Given the description of an element on the screen output the (x, y) to click on. 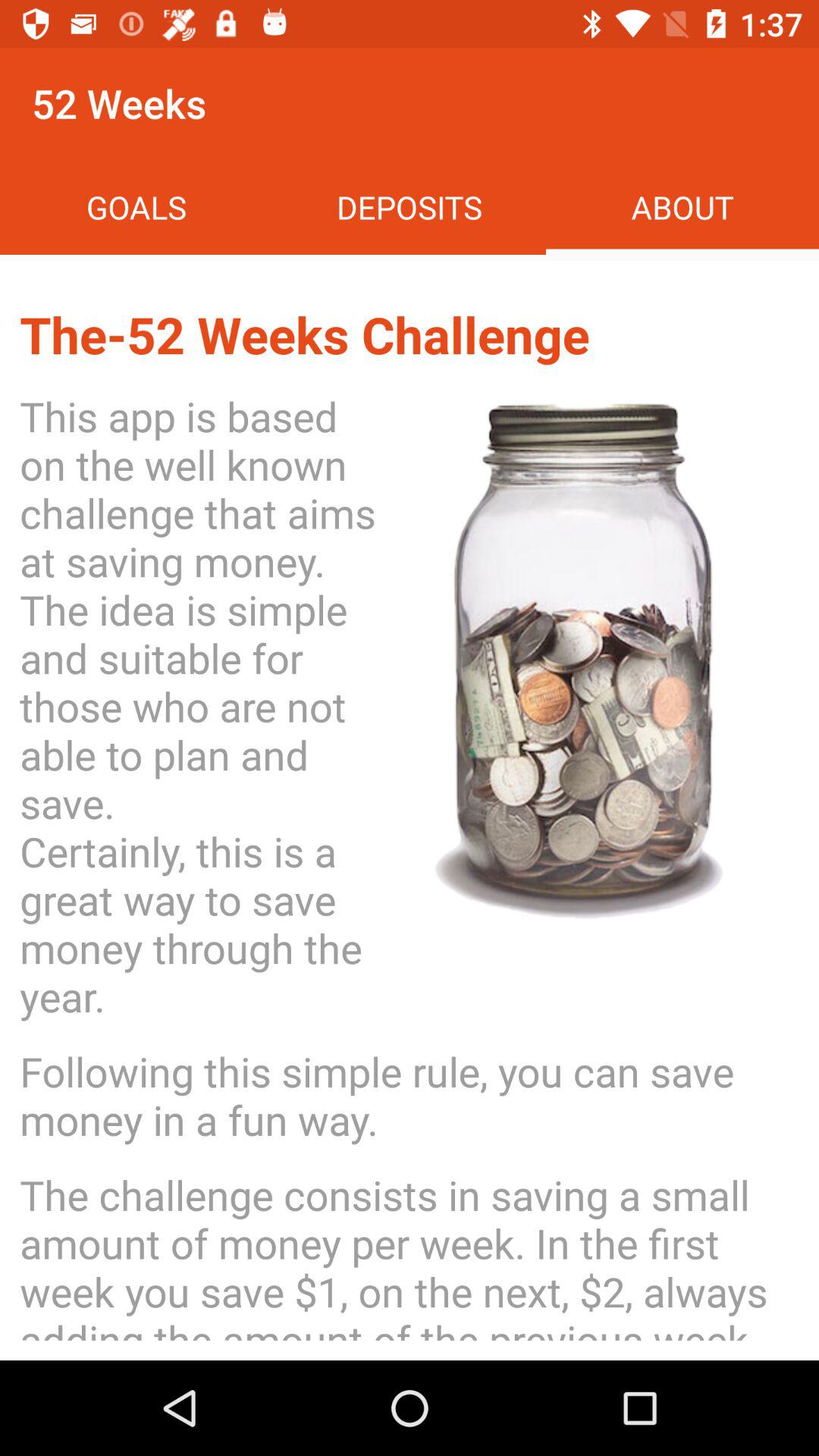
tap the about at the top right corner (682, 206)
